Given the description of an element on the screen output the (x, y) to click on. 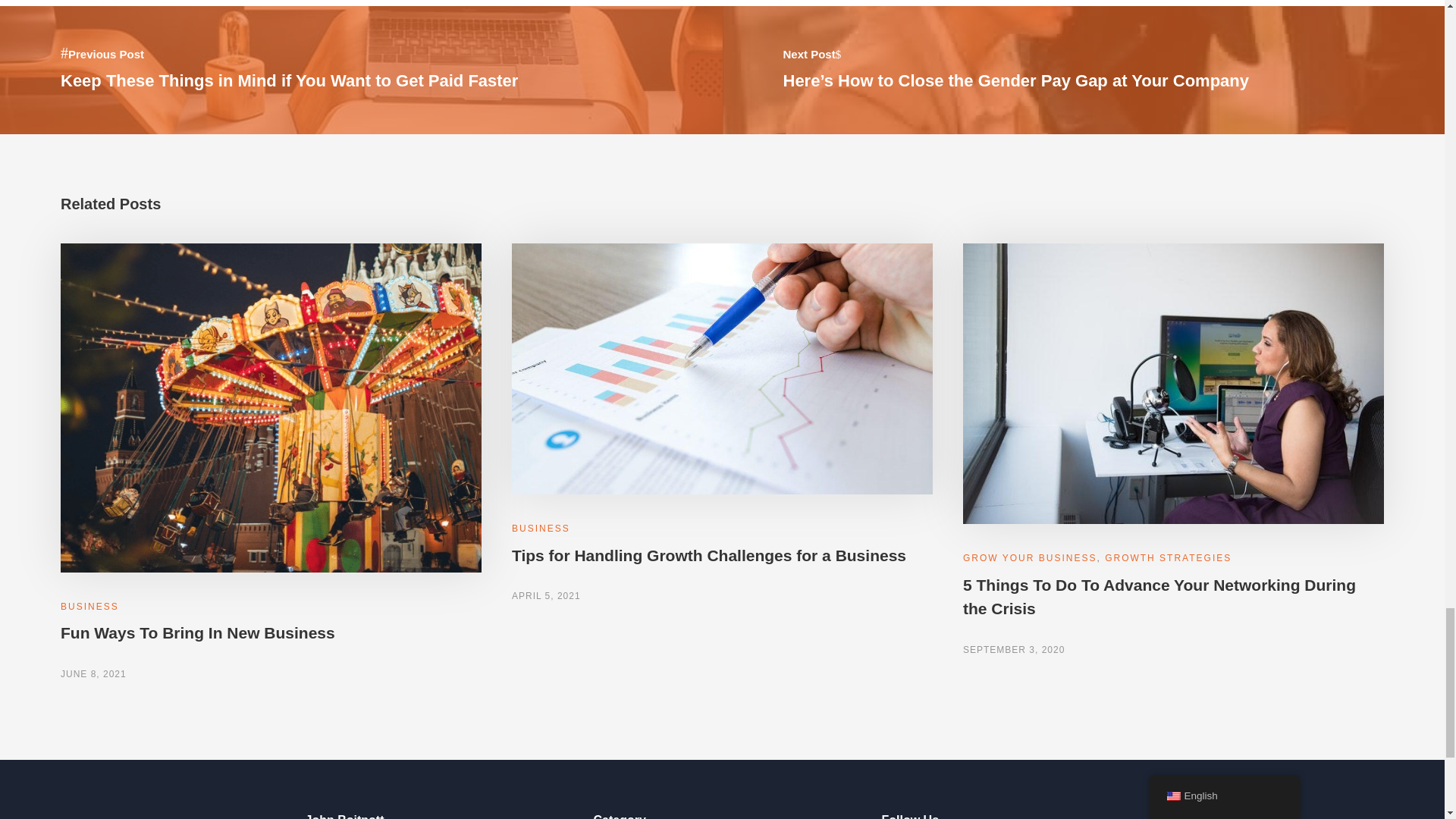
GrowthChallengesforaBusiness (722, 368)
